Given the description of an element on the screen output the (x, y) to click on. 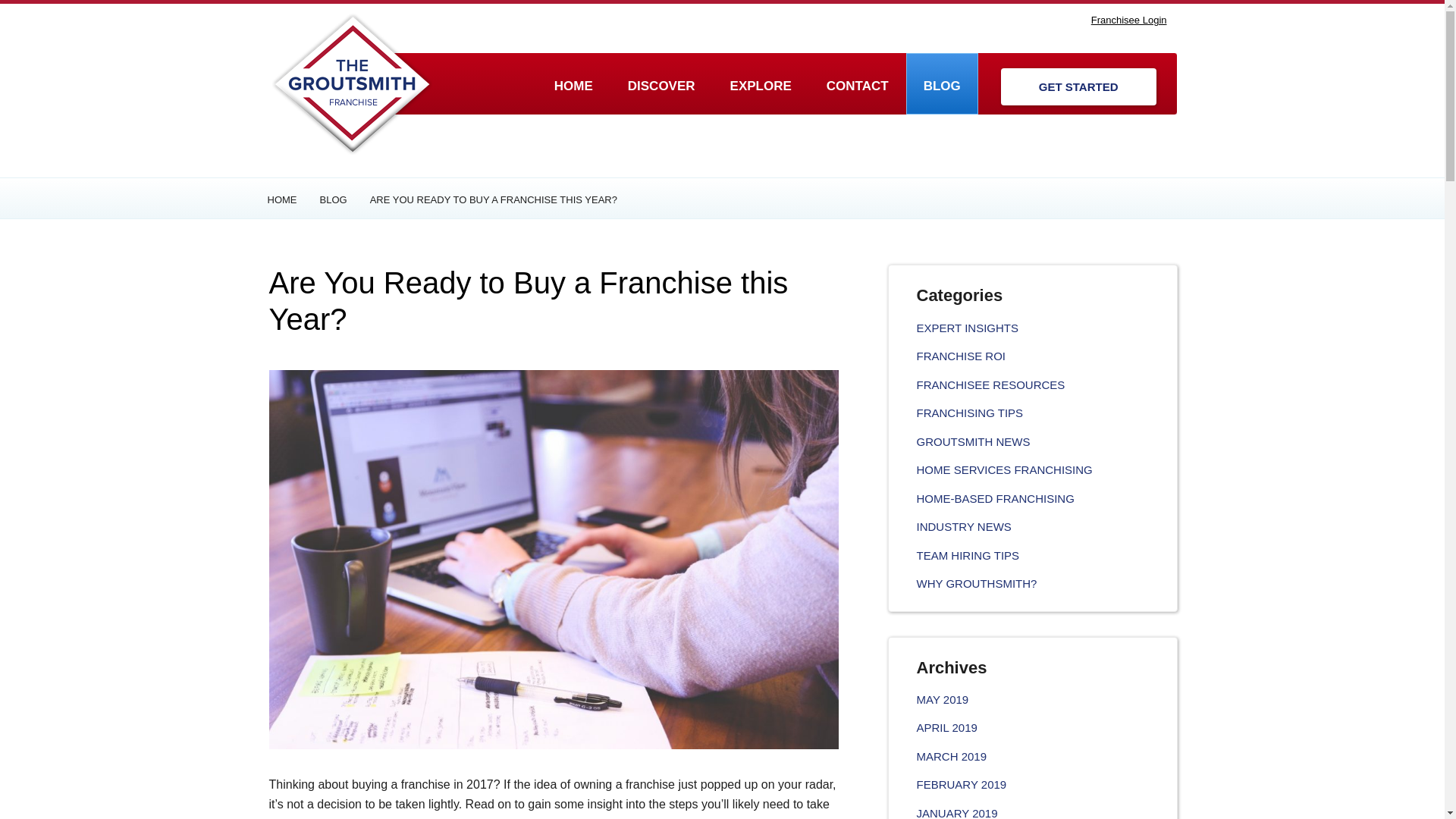
Franchisee Login (1128, 20)
GET STARTED (1078, 86)
EXPERT INSIGHTS (966, 327)
Are You Ready to Buy a Franchise this Year? (527, 300)
BLOG (344, 198)
GroutSmith (350, 83)
EXPLORE (761, 83)
FRANCHISE ROI (960, 355)
DISCOVER (661, 83)
FRANCHISING TIPS (969, 412)
CONTACT (857, 83)
HOME (573, 83)
FRANCHISEE RESOURCES (989, 384)
BLOG (941, 83)
